Given the description of an element on the screen output the (x, y) to click on. 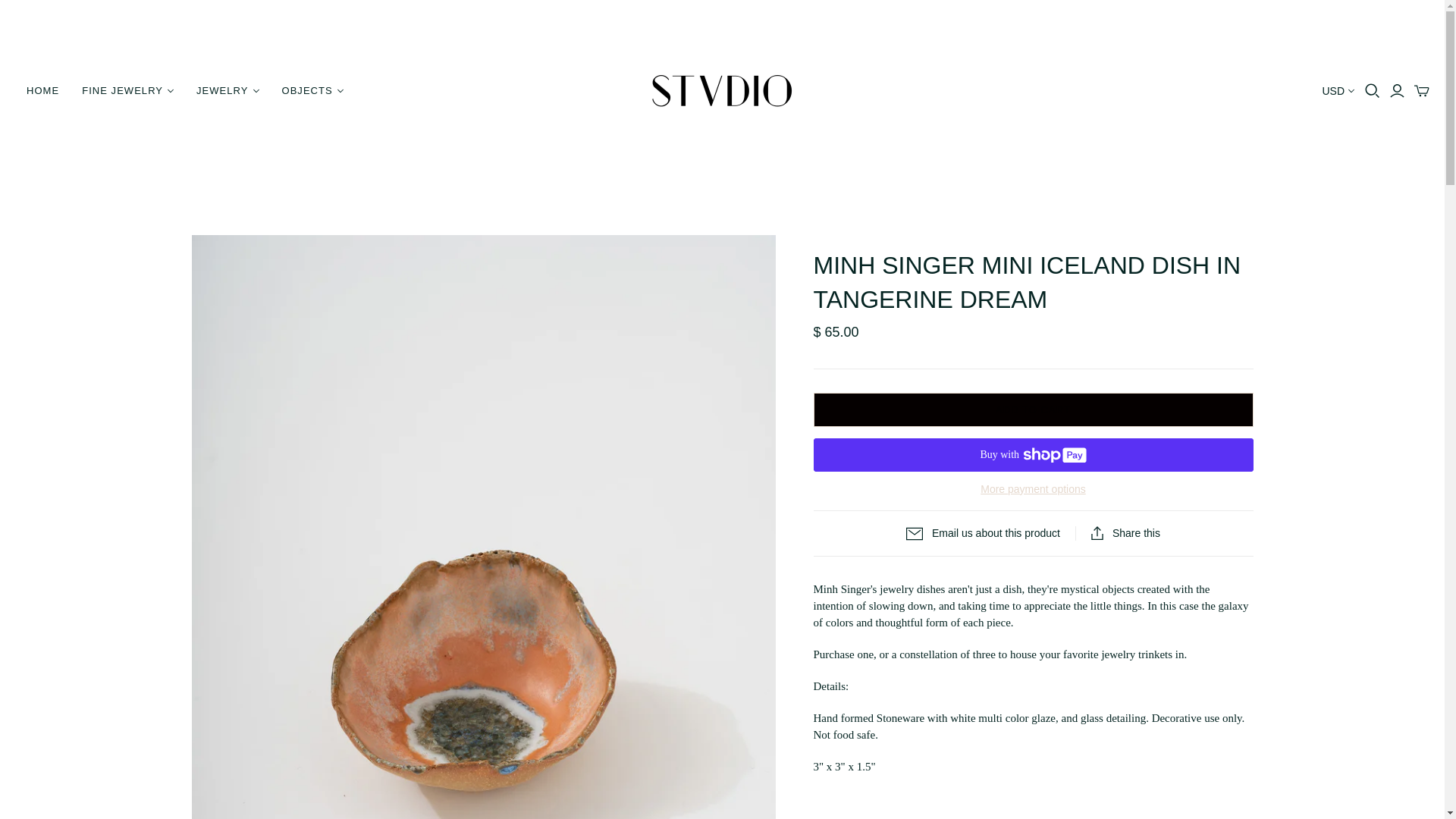
HOME (41, 90)
OBJECTS (311, 90)
JEWELRY (226, 90)
FINE JEWELRY (126, 90)
